Given the description of an element on the screen output the (x, y) to click on. 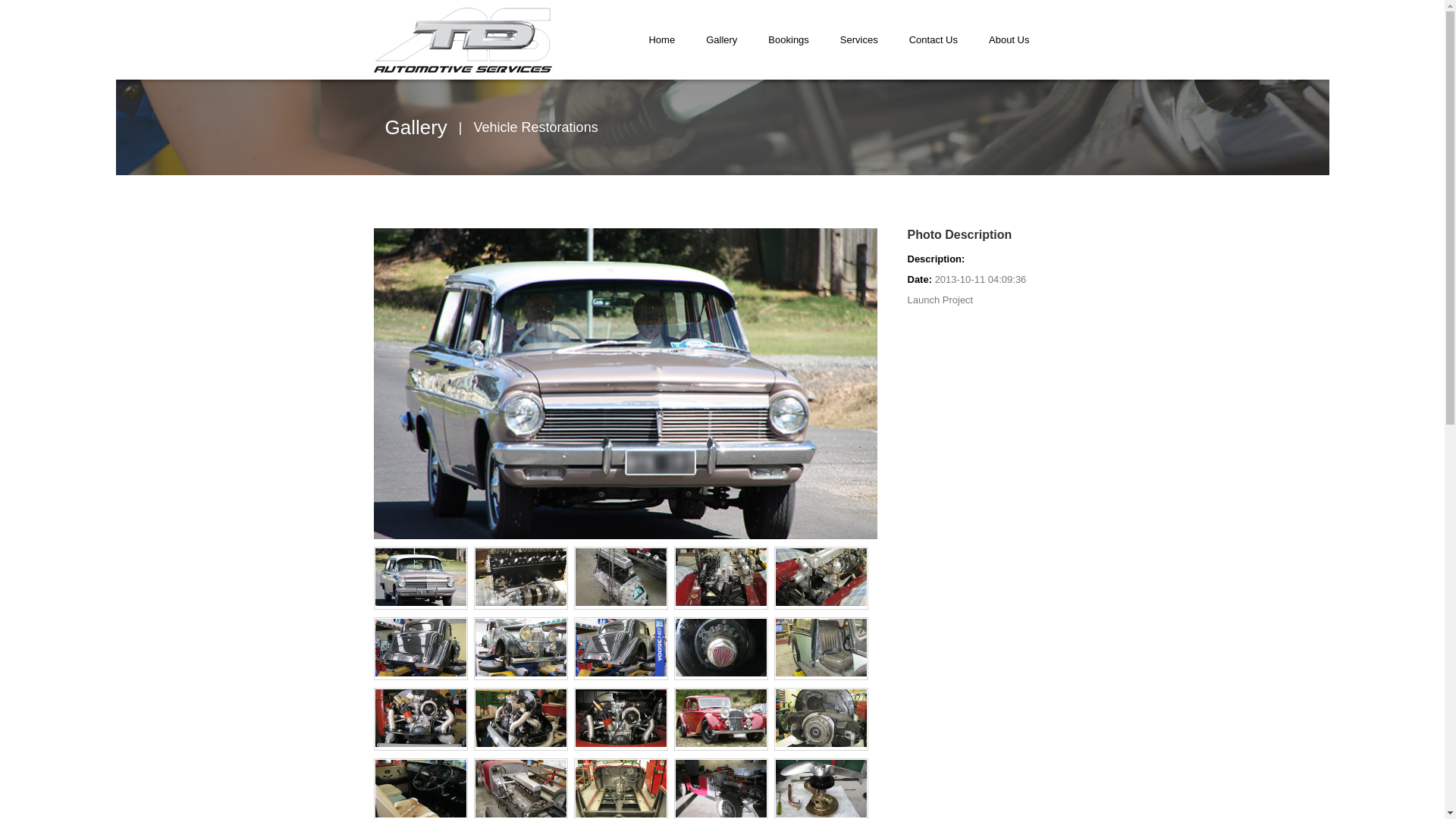
About Us Element type: text (1008, 39)
Bookings Element type: text (788, 39)
Services Element type: text (859, 39)
Gallery Element type: text (721, 39)
Gallery Element type: text (416, 127)
TD Automotive Services Element type: hover (463, 39)
Home Element type: text (661, 39)
Contact Us Element type: text (933, 39)
